Given the description of an element on the screen output the (x, y) to click on. 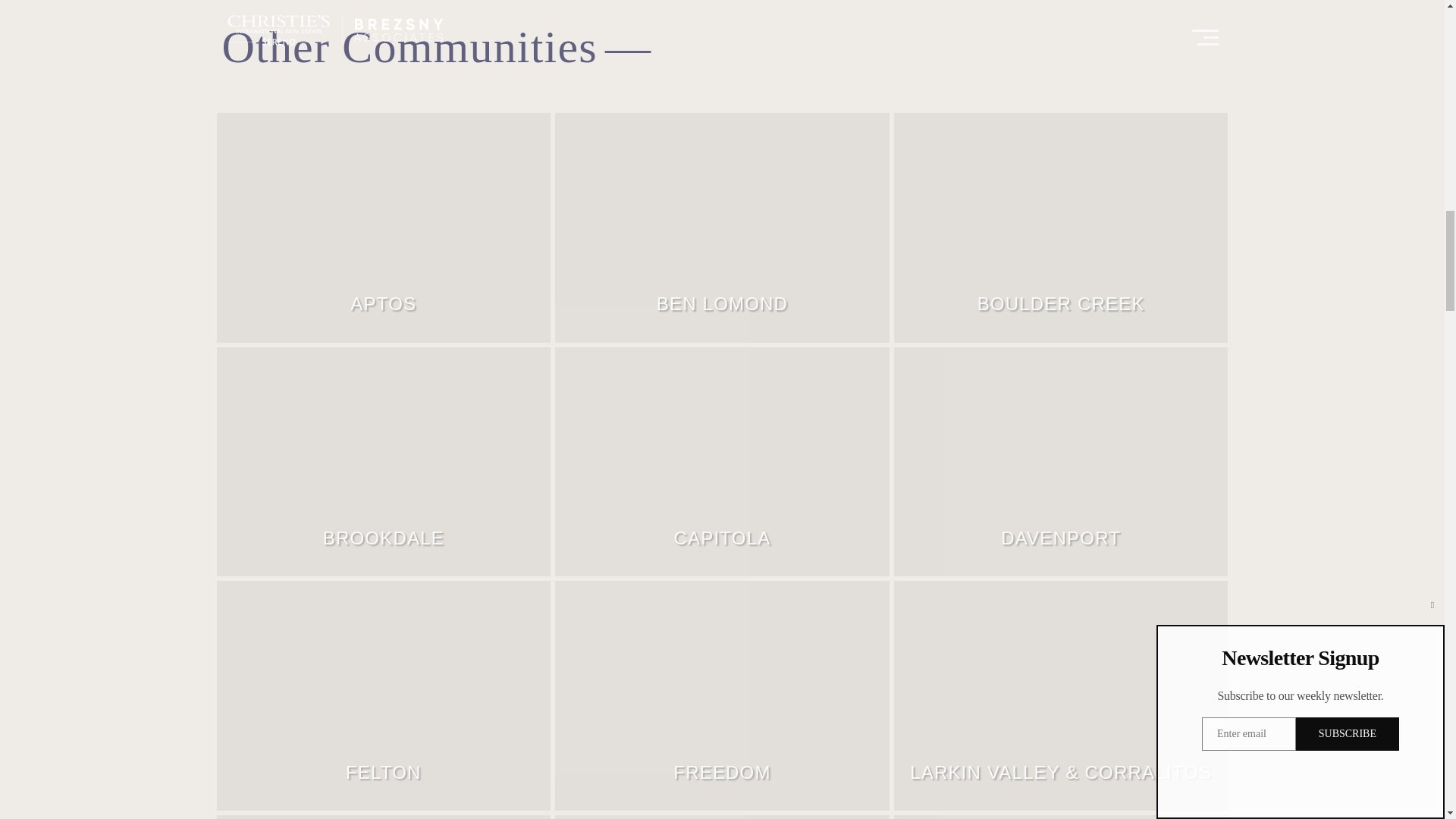
DAVENPORT (1060, 461)
APTOS (383, 227)
SAN LORENZO VALLEY (1060, 816)
FELTON (383, 695)
BOULDER CREEK (1060, 227)
FREEDOM (722, 695)
LA SELVA BEACH (383, 816)
BROOKDALE (383, 461)
CAPITOLA (722, 461)
BEN LOMOND (722, 227)
